Given the description of an element on the screen output the (x, y) to click on. 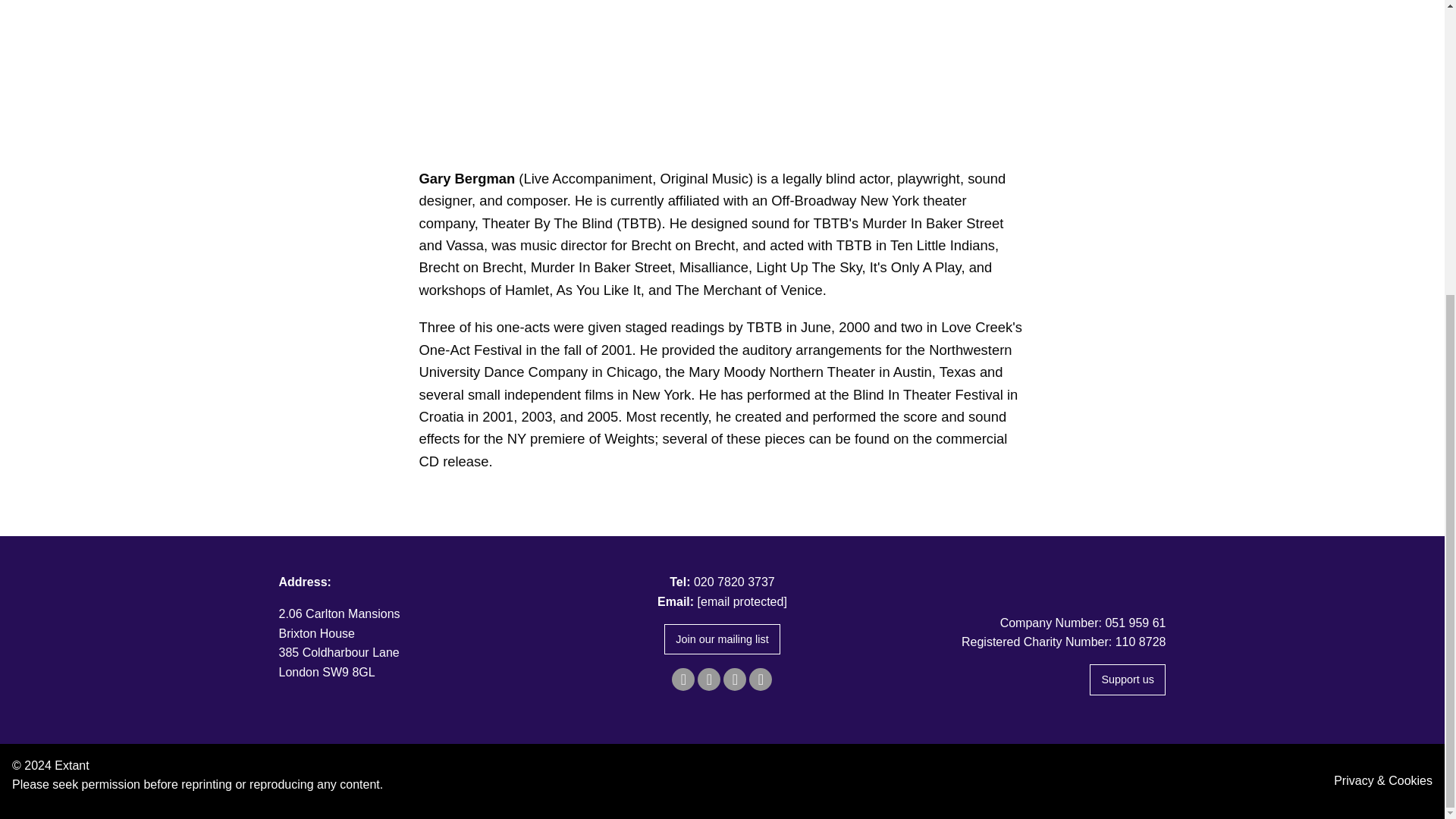
Support us (1127, 679)
Instagram (734, 679)
twitter (708, 679)
YouTube (760, 679)
Join our mailing list (721, 639)
Arts Council (1025, 580)
facebook (682, 679)
